Given the description of an element on the screen output the (x, y) to click on. 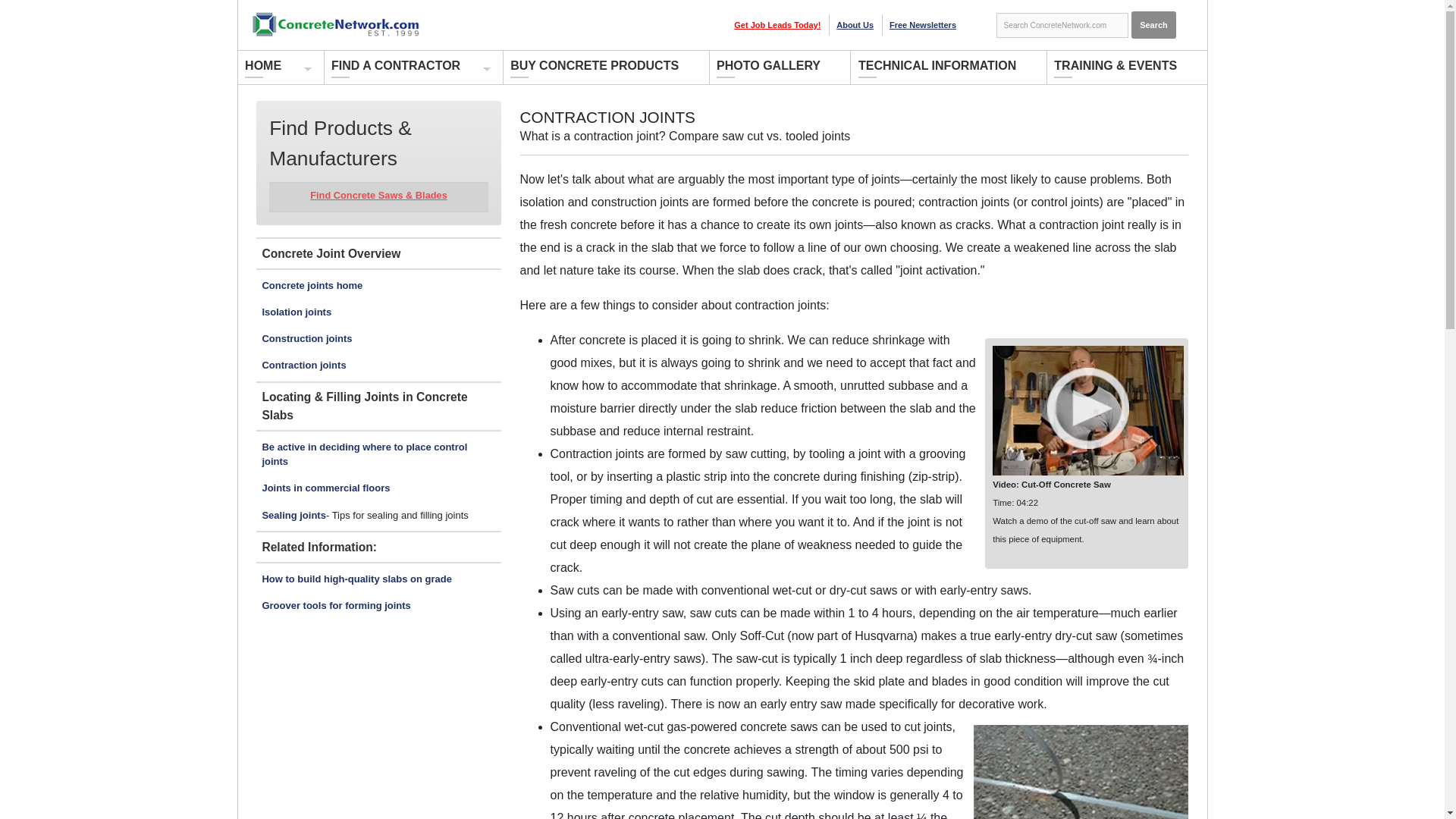
FIND A CONTRACTOR (407, 67)
Search (1153, 24)
HOME (274, 67)
Search (1153, 24)
Search (1153, 24)
Get Job Leads Today! (777, 24)
Search ConcreteNetwork.com (1060, 25)
Search ConcreteNetwork.com (1060, 25)
Free Newsletters (922, 24)
About Us (854, 24)
